Given the description of an element on the screen output the (x, y) to click on. 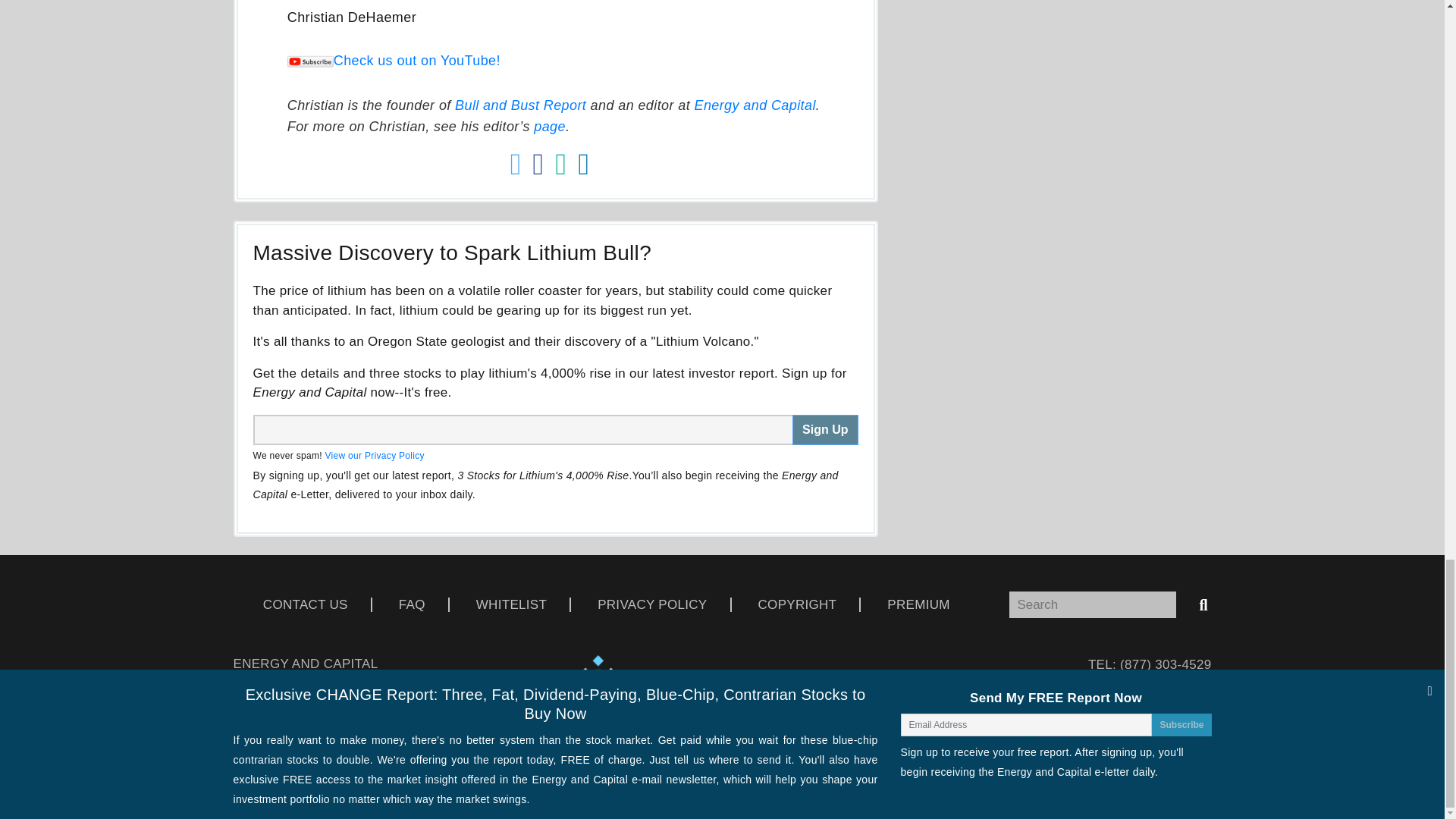
page (550, 126)
Check us out on YouTube! (393, 60)
Bull and Bust Report (520, 105)
Energy and Capital (754, 105)
Sign Up (824, 429)
View our Privacy Policy (373, 455)
